Given the description of an element on the screen output the (x, y) to click on. 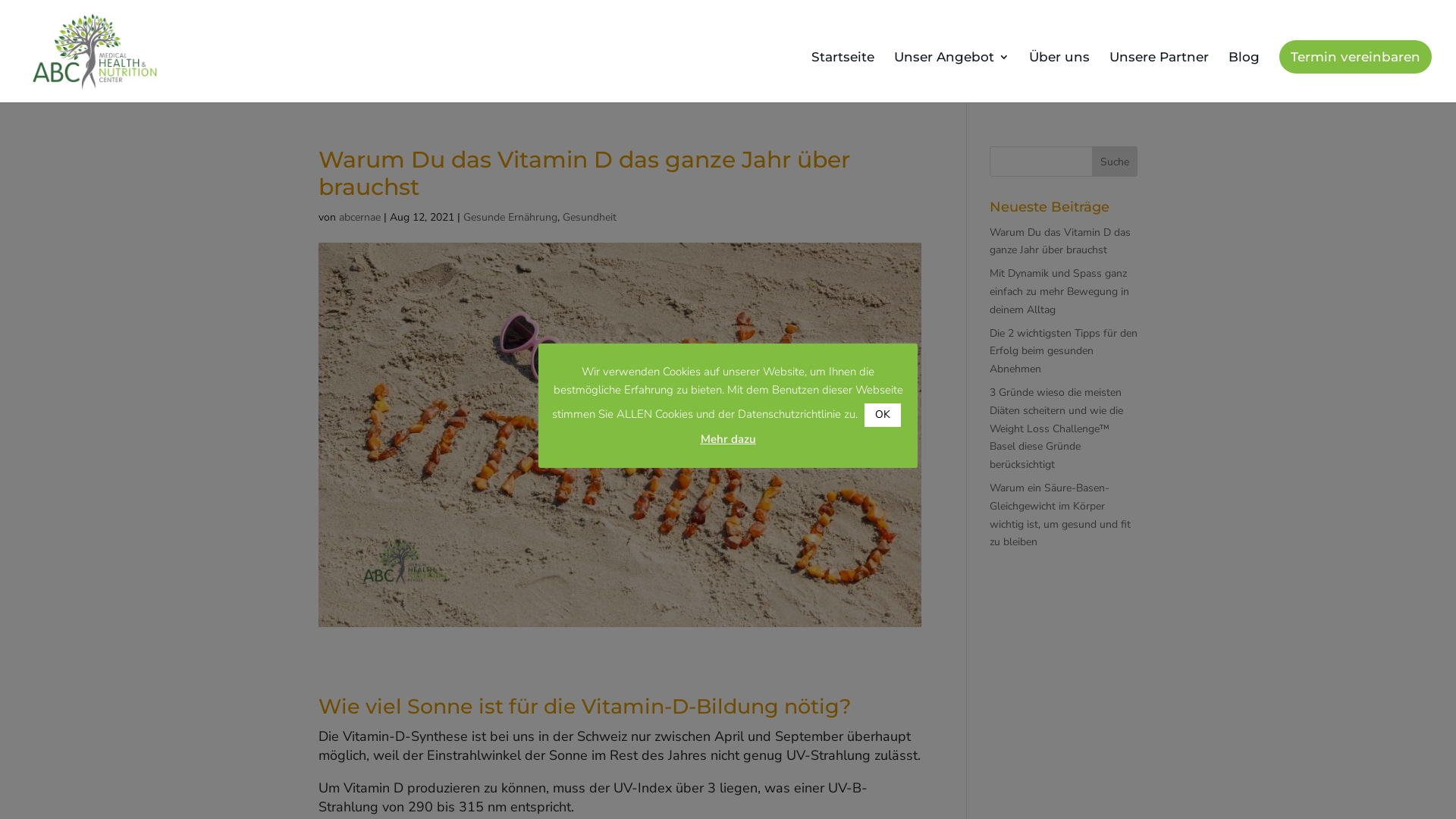
OK Element type: text (882, 414)
Gesundheit Element type: text (589, 217)
Mehr dazu Element type: text (728, 438)
Suche Element type: text (1114, 161)
Unser Angebot Element type: text (951, 76)
Blog Element type: text (1243, 76)
Unsere Partner Element type: text (1158, 76)
Termin vereinbaren Element type: text (1355, 56)
Startseite Element type: text (842, 76)
abcernae Element type: text (359, 217)
